Given the description of an element on the screen output the (x, y) to click on. 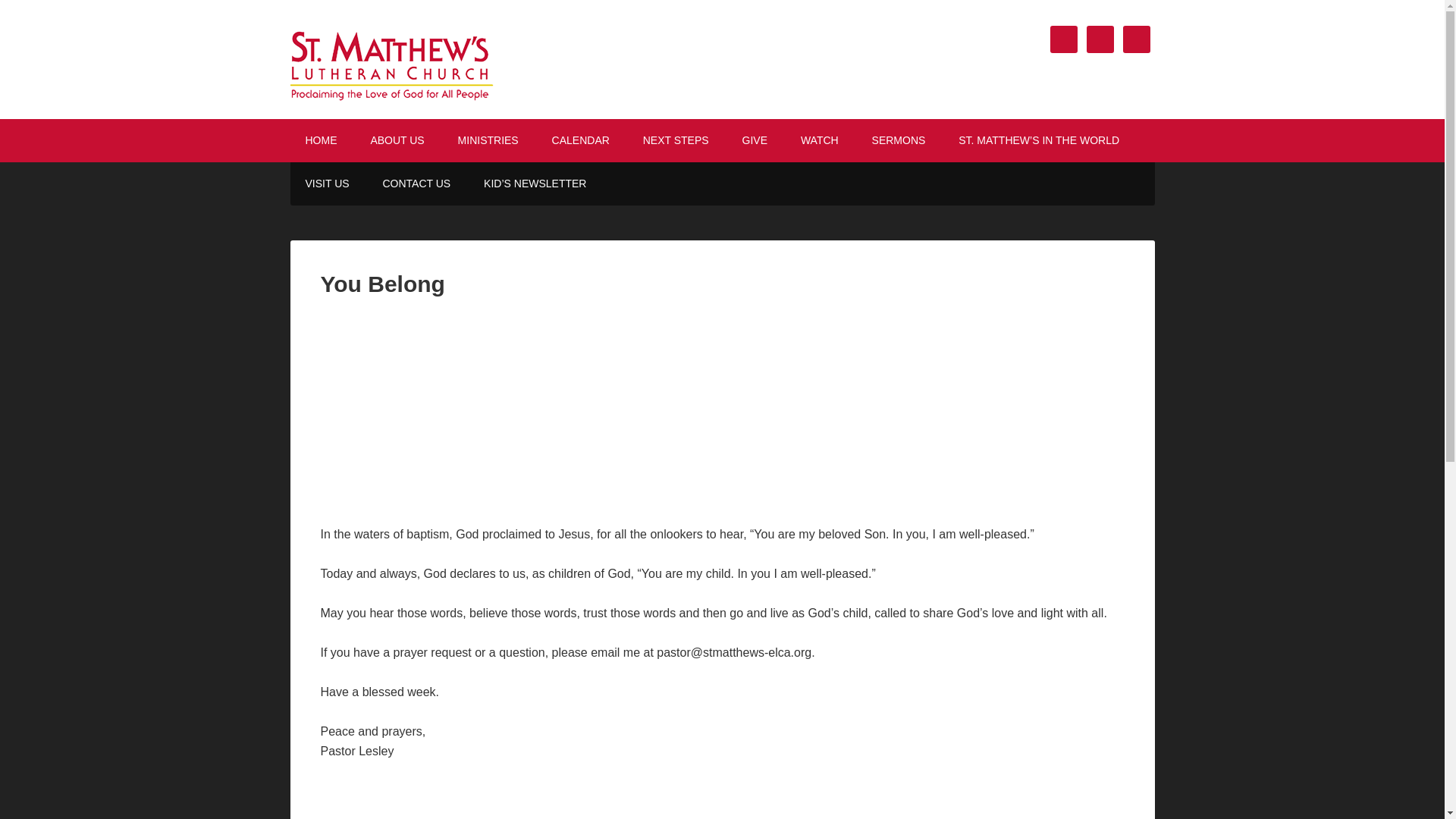
WATCH (819, 140)
MINISTRIES (488, 140)
VISIT US (326, 183)
You Belong (509, 411)
SERMONS (898, 140)
ST. MATTHEW'S LUTHERAN CHURCH (418, 59)
CALENDAR (580, 140)
NEXT STEPS (675, 140)
HOME (320, 140)
GIVE (754, 140)
